Given the description of an element on the screen output the (x, y) to click on. 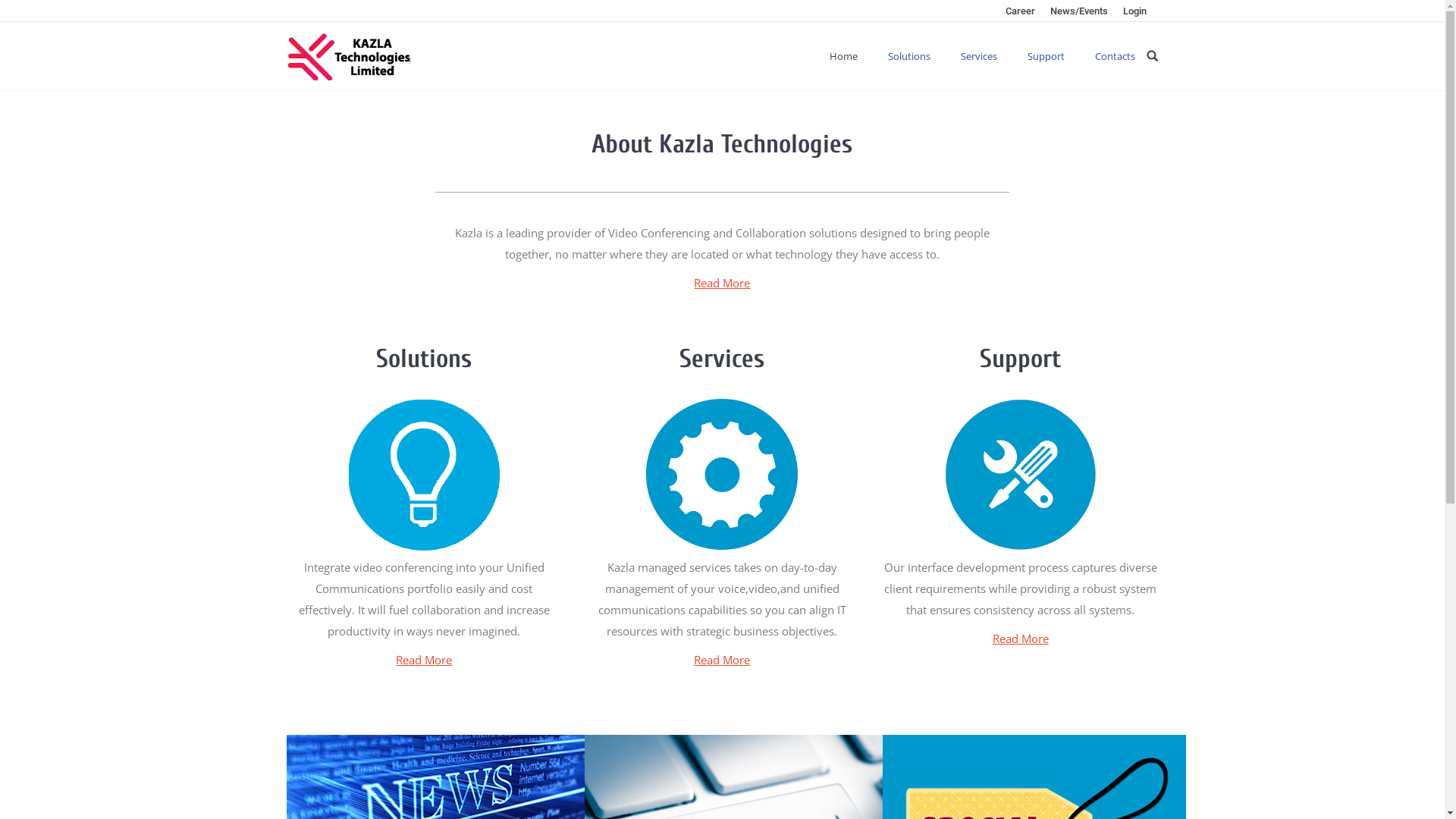
  Element type: text (1152, 56)
Services Element type: text (978, 55)
Login Element type: text (1133, 10)
Read More Element type: text (721, 282)
News/Events Element type: text (1078, 10)
Solutions Element type: text (908, 55)
Home Element type: text (843, 55)
Career Element type: text (1020, 10)
Read More Element type: text (1020, 638)
Contacts Element type: text (1114, 55)
Read More Element type: text (721, 659)
Go! Element type: text (18, 14)
Support Element type: text (1045, 55)
Read More Element type: text (423, 659)
